Given the description of an element on the screen output the (x, y) to click on. 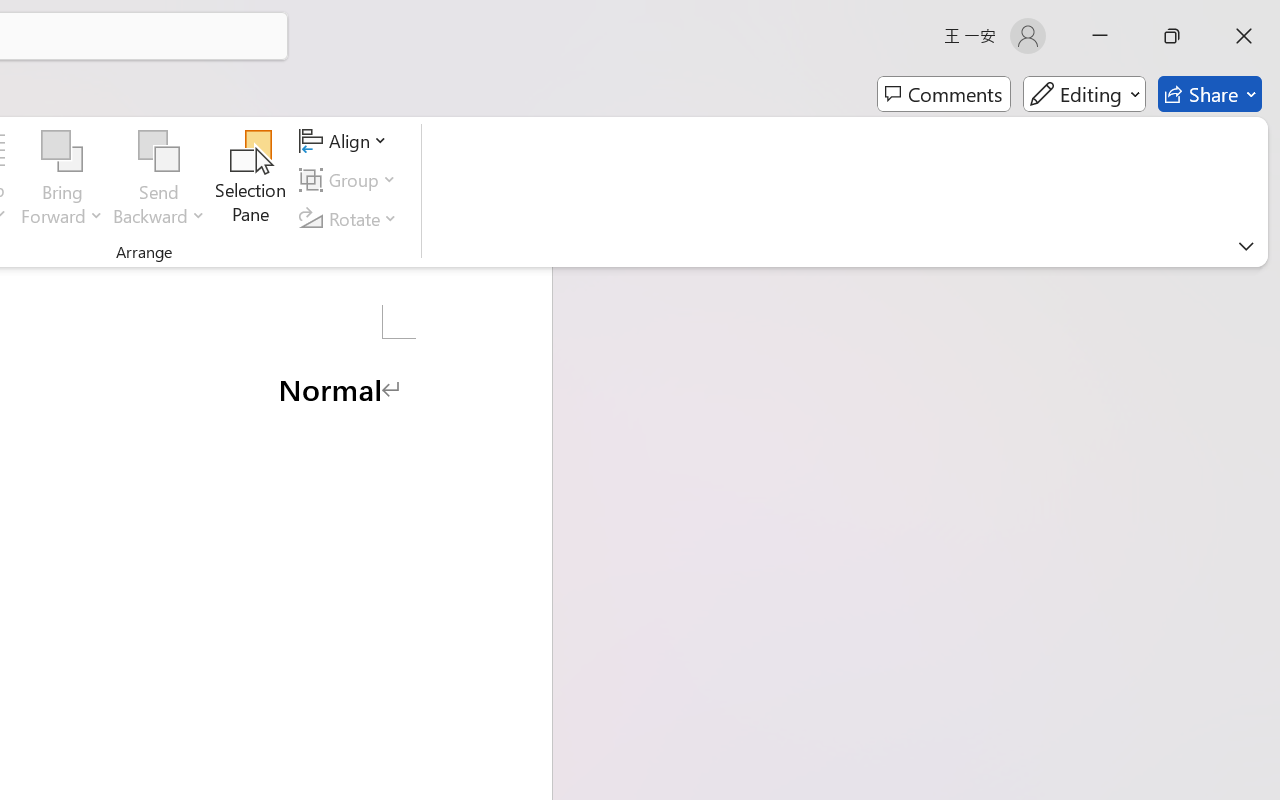
Send Backward (159, 179)
